Given the description of an element on the screen output the (x, y) to click on. 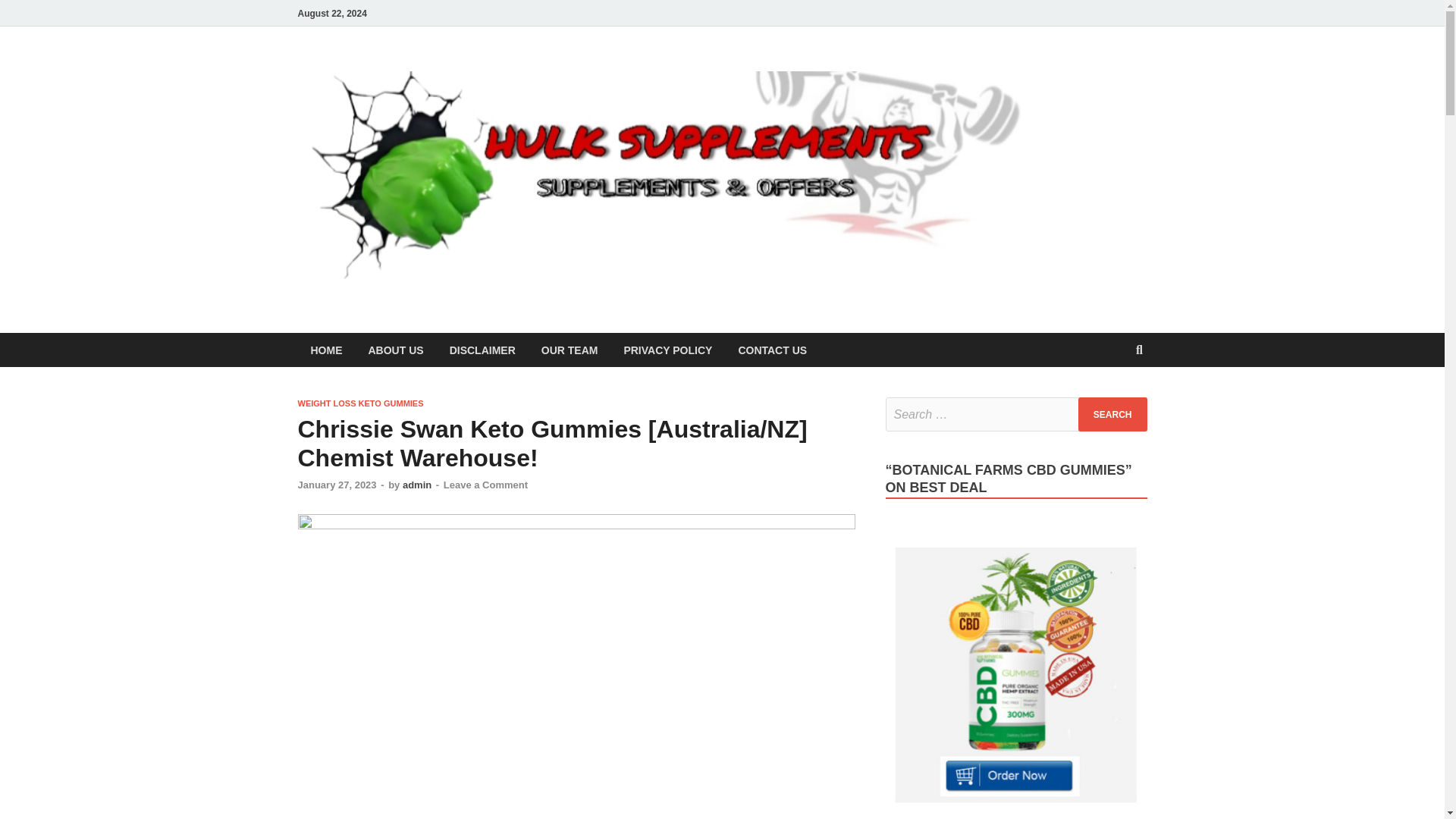
admin (416, 484)
DISCLAIMER (482, 349)
January 27, 2023 (336, 484)
OUR TEAM (569, 349)
Search (1112, 414)
CONTACT US (772, 349)
Search (1112, 414)
Hulk Supplements (1124, 95)
PRIVACY POLICY (667, 349)
Leave a Comment (485, 484)
